Given the description of an element on the screen output the (x, y) to click on. 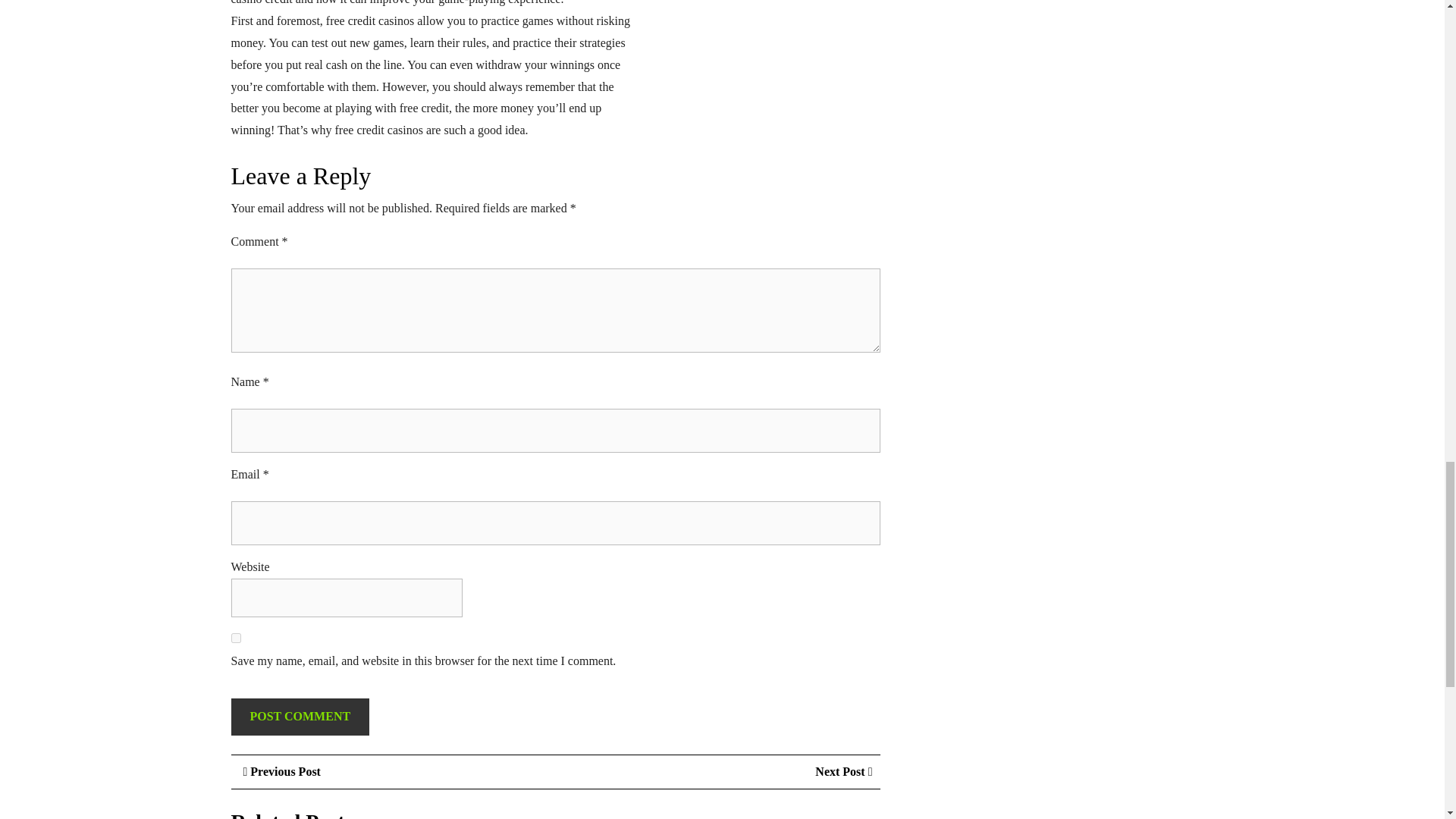
Post Comment (279, 771)
Post Comment (299, 716)
yes (299, 716)
